Given the description of an element on the screen output the (x, y) to click on. 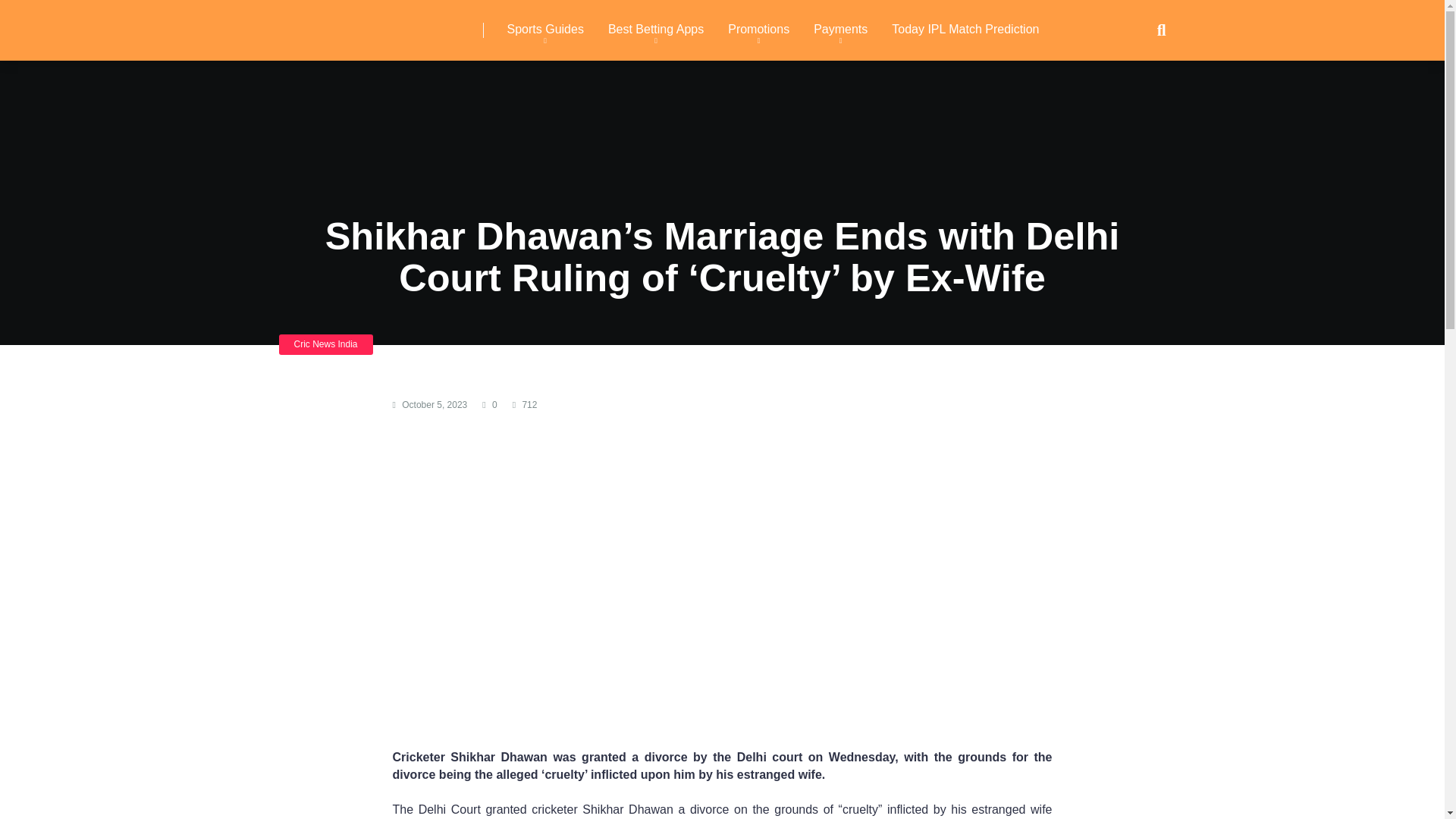
Payments (840, 30)
Sports Betting Markets (381, 24)
Promotions (759, 30)
Sports Guides (545, 30)
Best Betting Apps (655, 30)
